Given the description of an element on the screen output the (x, y) to click on. 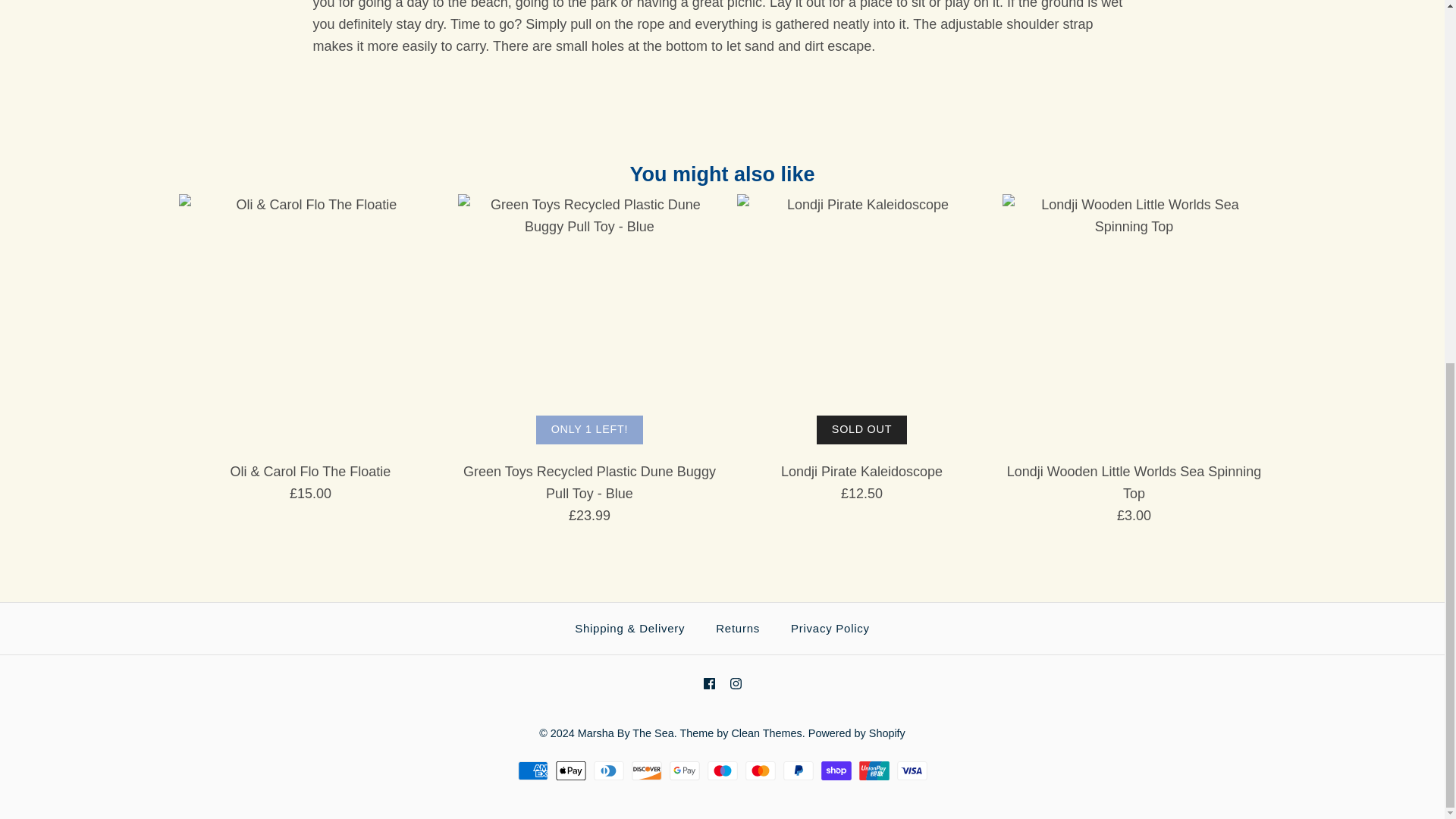
Maestro (721, 770)
Discover (645, 770)
PayPal (797, 770)
Google Pay (683, 770)
Instagram (735, 683)
American Express (531, 770)
Shop Pay (835, 770)
Apple Pay (569, 770)
Facebook (708, 683)
Mastercard (759, 770)
Diners Club (607, 770)
